Given the description of an element on the screen output the (x, y) to click on. 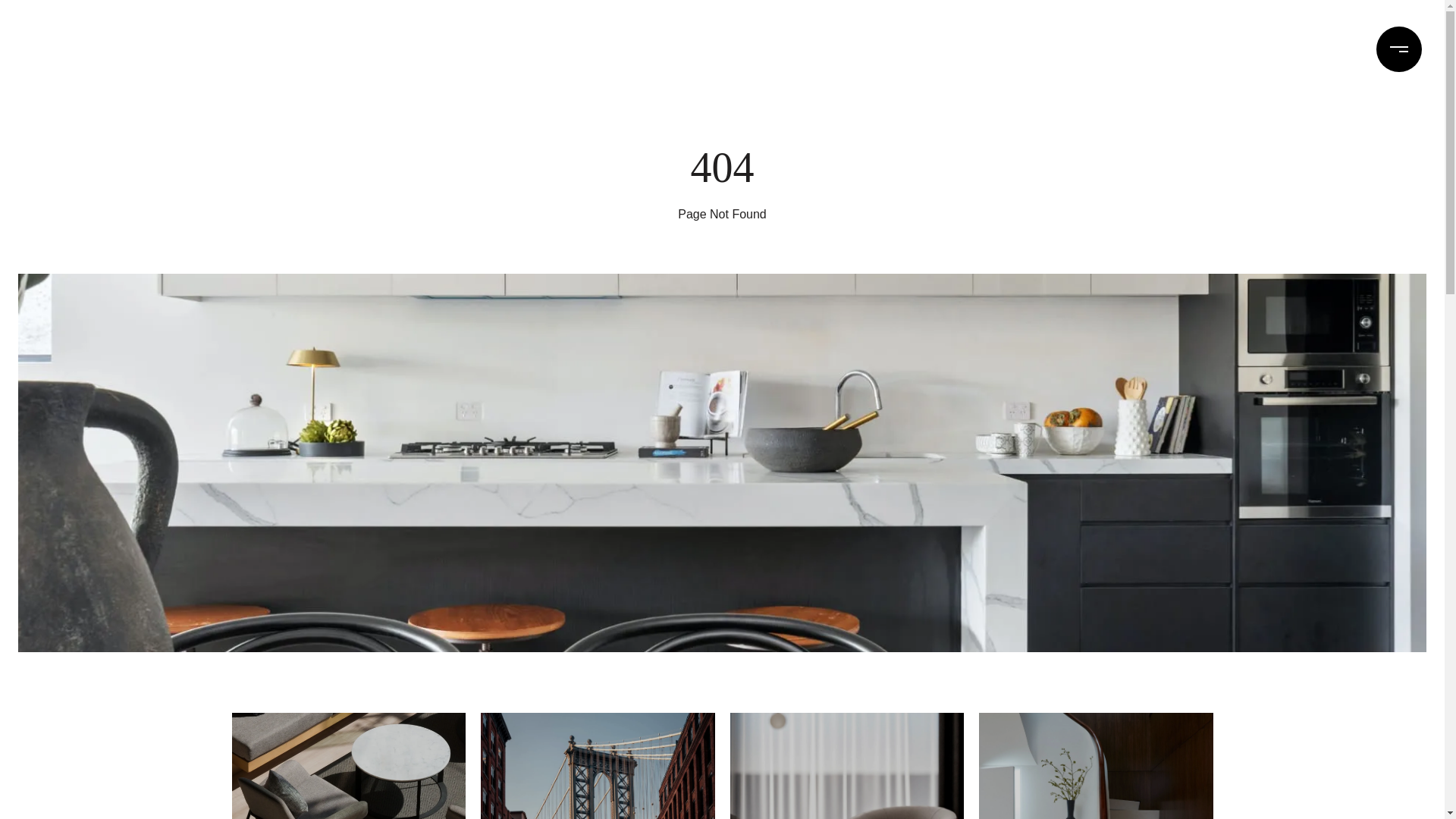
About Keith (217, 49)
Compass Advantage (90, 49)
Seller (348, 765)
Landlord (846, 765)
Home Search (1157, 49)
Buyer (597, 765)
